Given the description of an element on the screen output the (x, y) to click on. 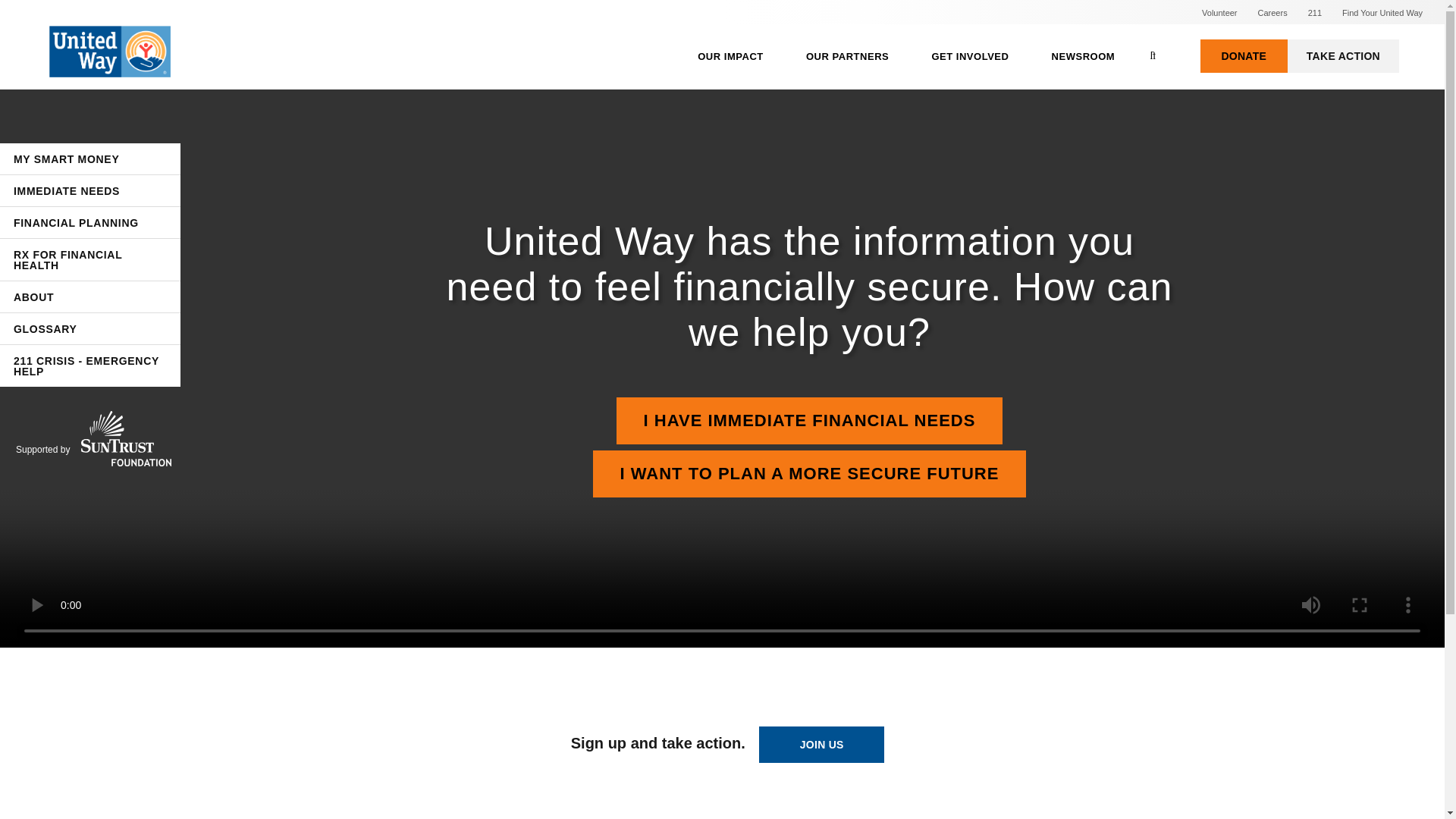
ABOUT (90, 296)
GET INVOLVED (969, 56)
OUR IMPACT (730, 56)
IMMEDIATE NEEDS (90, 190)
MY SMART MONEY (90, 158)
Find Your United Way (1382, 12)
DONATE (1243, 55)
Volunteer (1219, 12)
Careers (1272, 12)
211 CRISIS - EMERGENCY HELP (90, 365)
TAKE ACTION (1343, 55)
FINANCIAL PLANNING (90, 222)
GLOSSARY (90, 327)
RX FOR FINANCIAL HEALTH (90, 259)
OUR PARTNERS (846, 56)
